Given the description of an element on the screen output the (x, y) to click on. 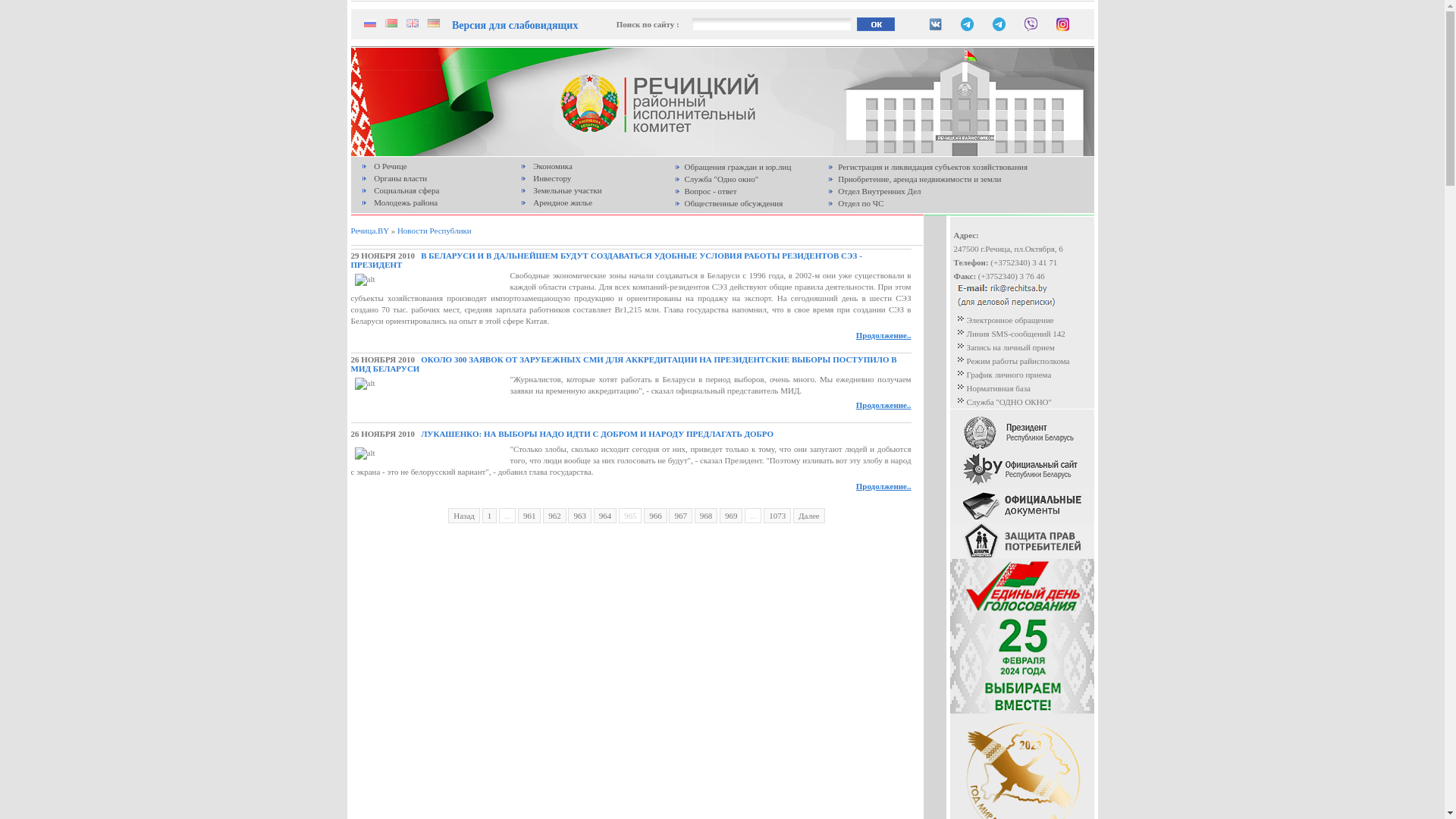
969 Element type: text (731, 515)
963 Element type: text (579, 515)
966 Element type: text (655, 515)
1 Element type: text (489, 515)
961 Element type: text (529, 515)
1073 Element type: text (776, 515)
962 Element type: text (554, 515)
968 Element type: text (706, 515)
964 Element type: text (605, 515)
967 Element type: text (680, 515)
